Given the description of an element on the screen output the (x, y) to click on. 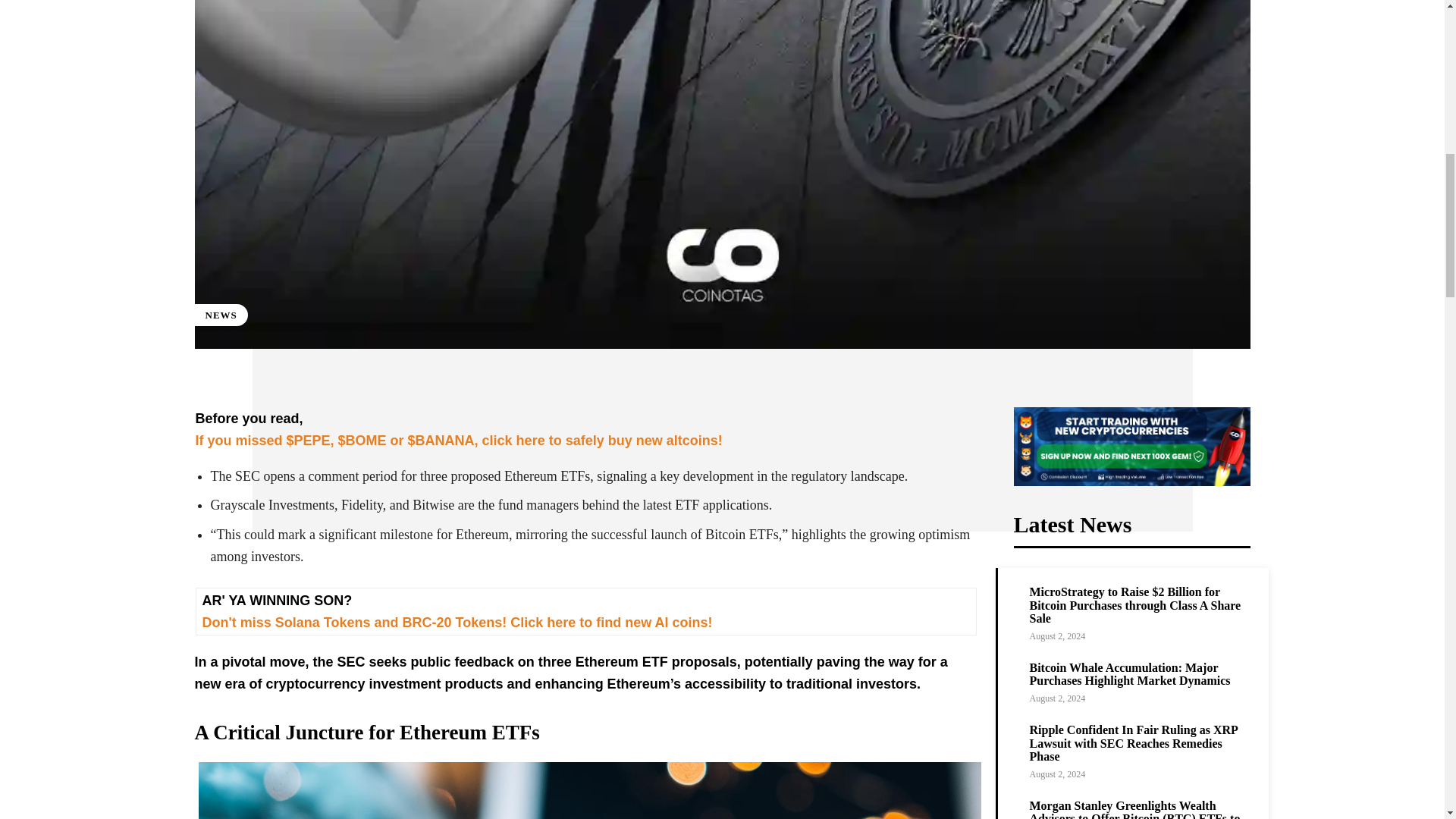
NEWS (220, 314)
